Given the description of an element on the screen output the (x, y) to click on. 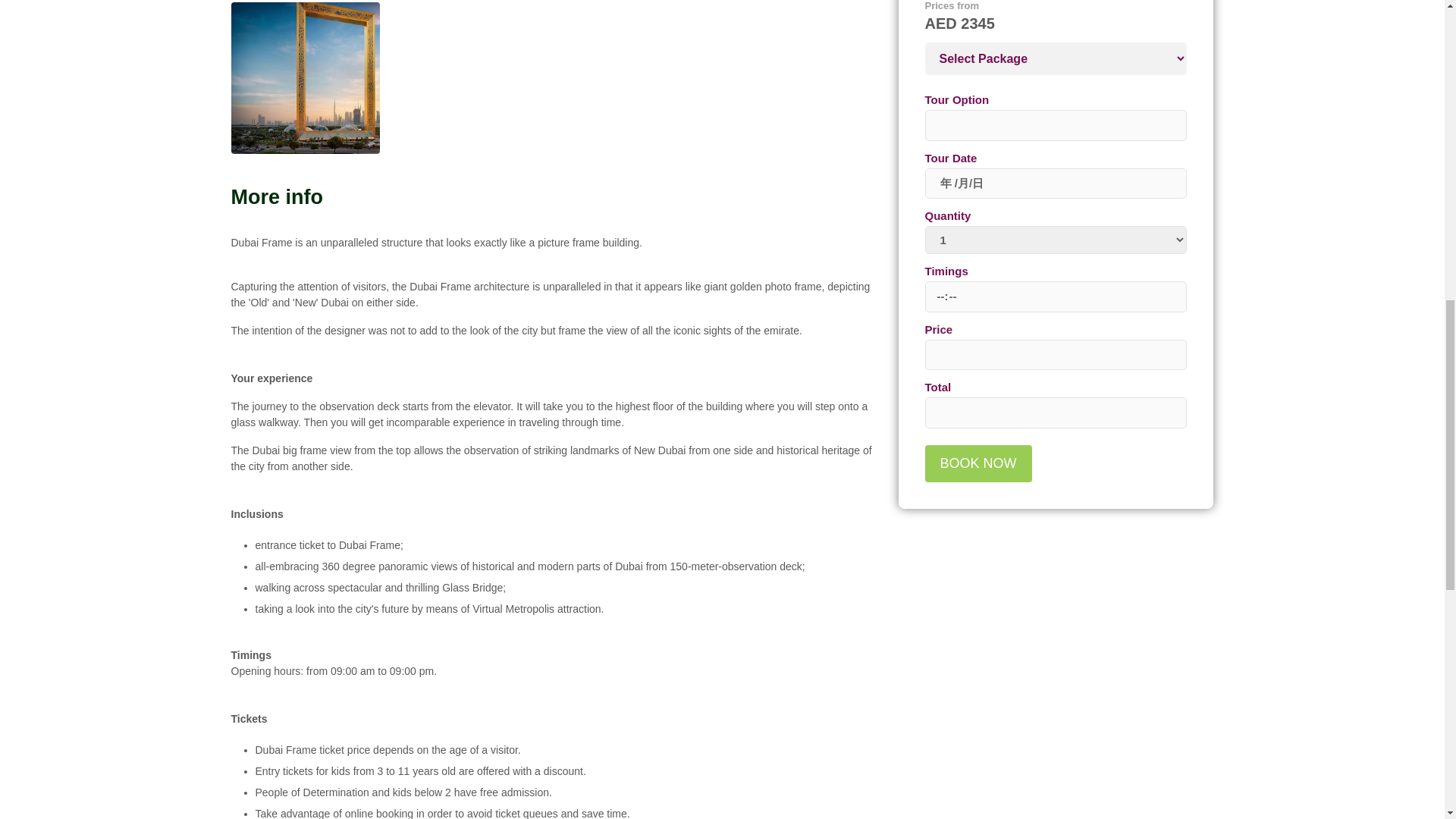
BOOK NOW (978, 463)
